Given the description of an element on the screen output the (x, y) to click on. 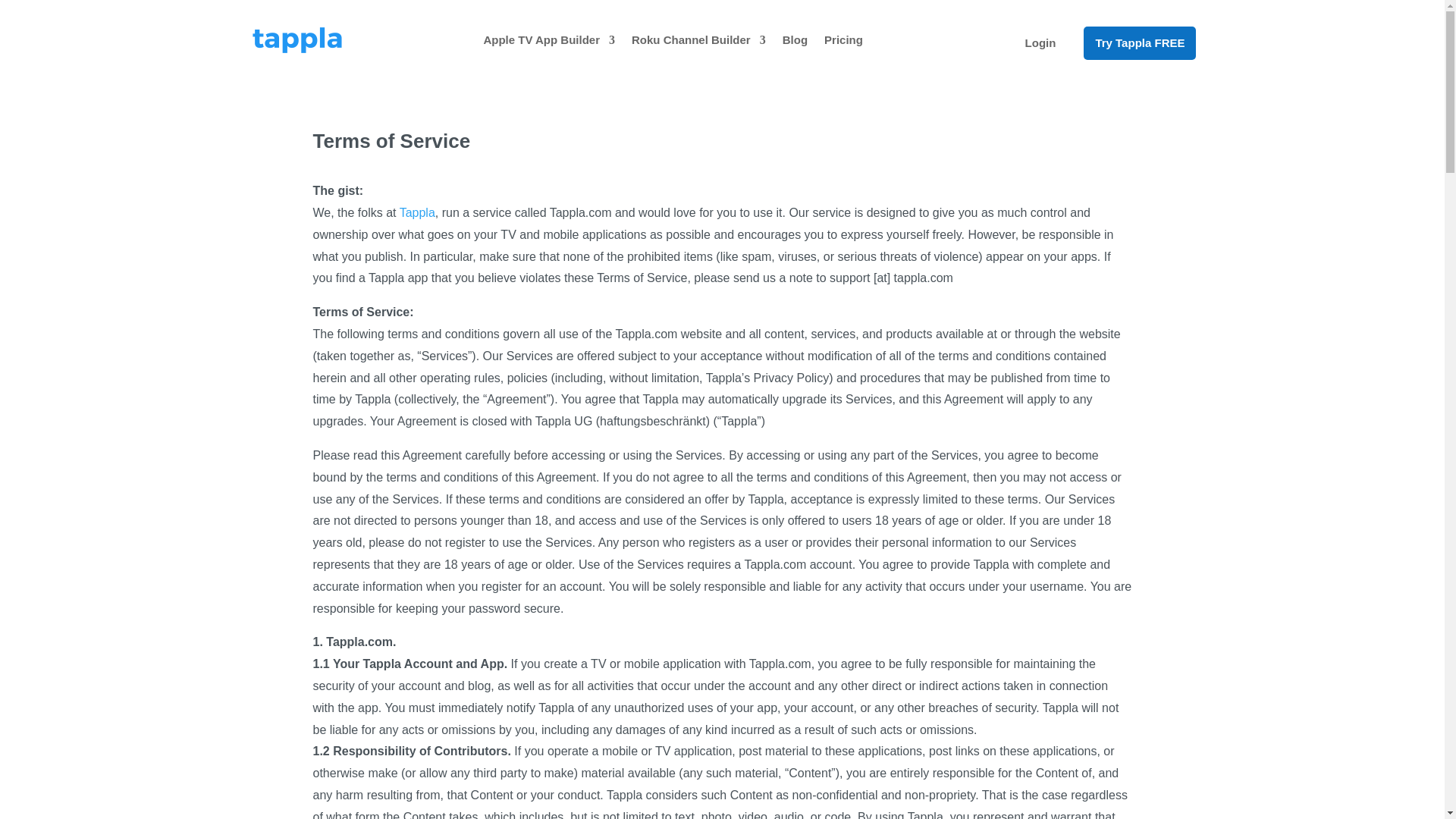
Tappla (416, 212)
Roku Channel Builder (698, 39)
Login (1040, 42)
Apple TV App Builder (548, 39)
Try Tappla FREE (1139, 42)
